Given the description of an element on the screen output the (x, y) to click on. 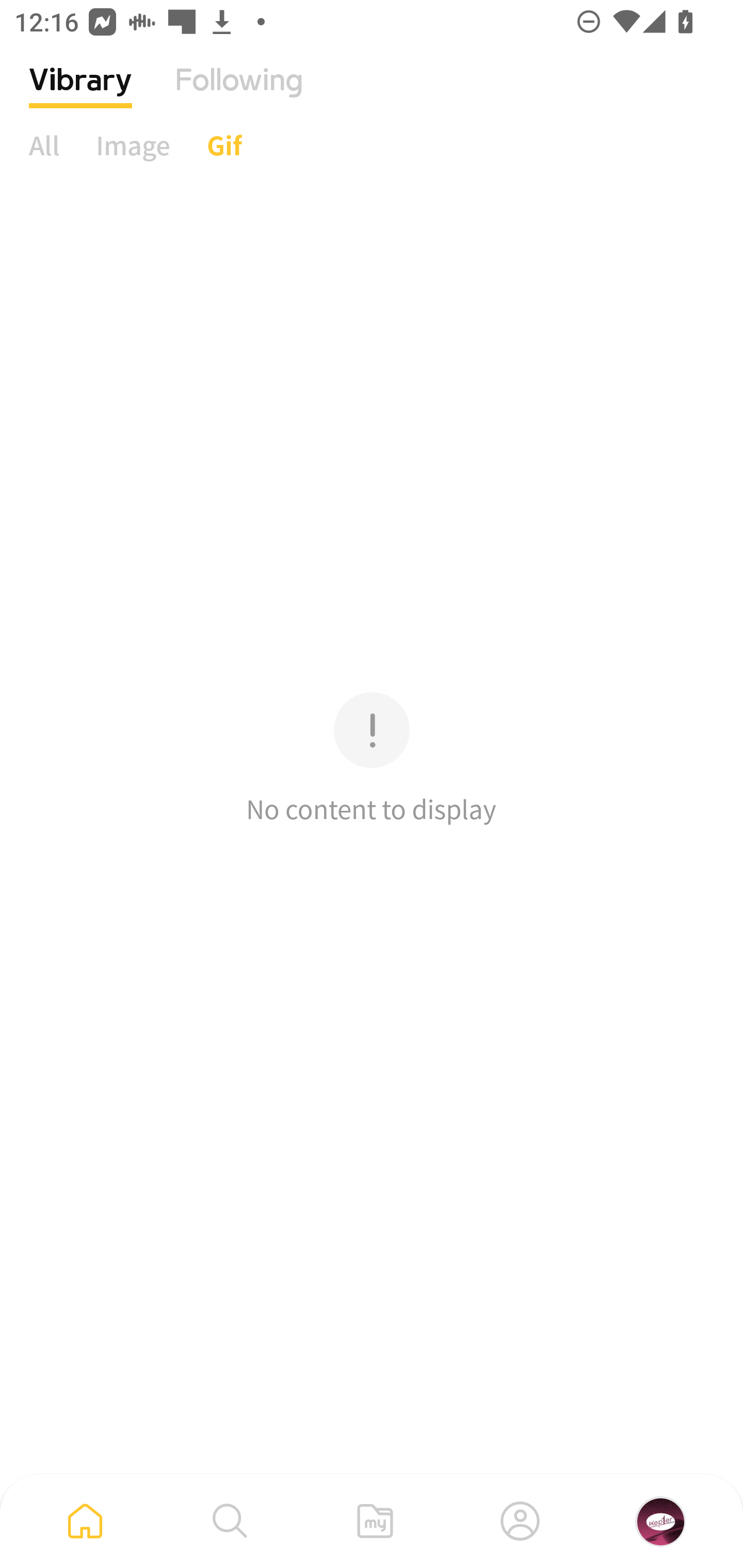
Vibrary (80, 95)
Following (239, 95)
All (44, 145)
Image (132, 145)
Gif (224, 145)
